Given the description of an element on the screen output the (x, y) to click on. 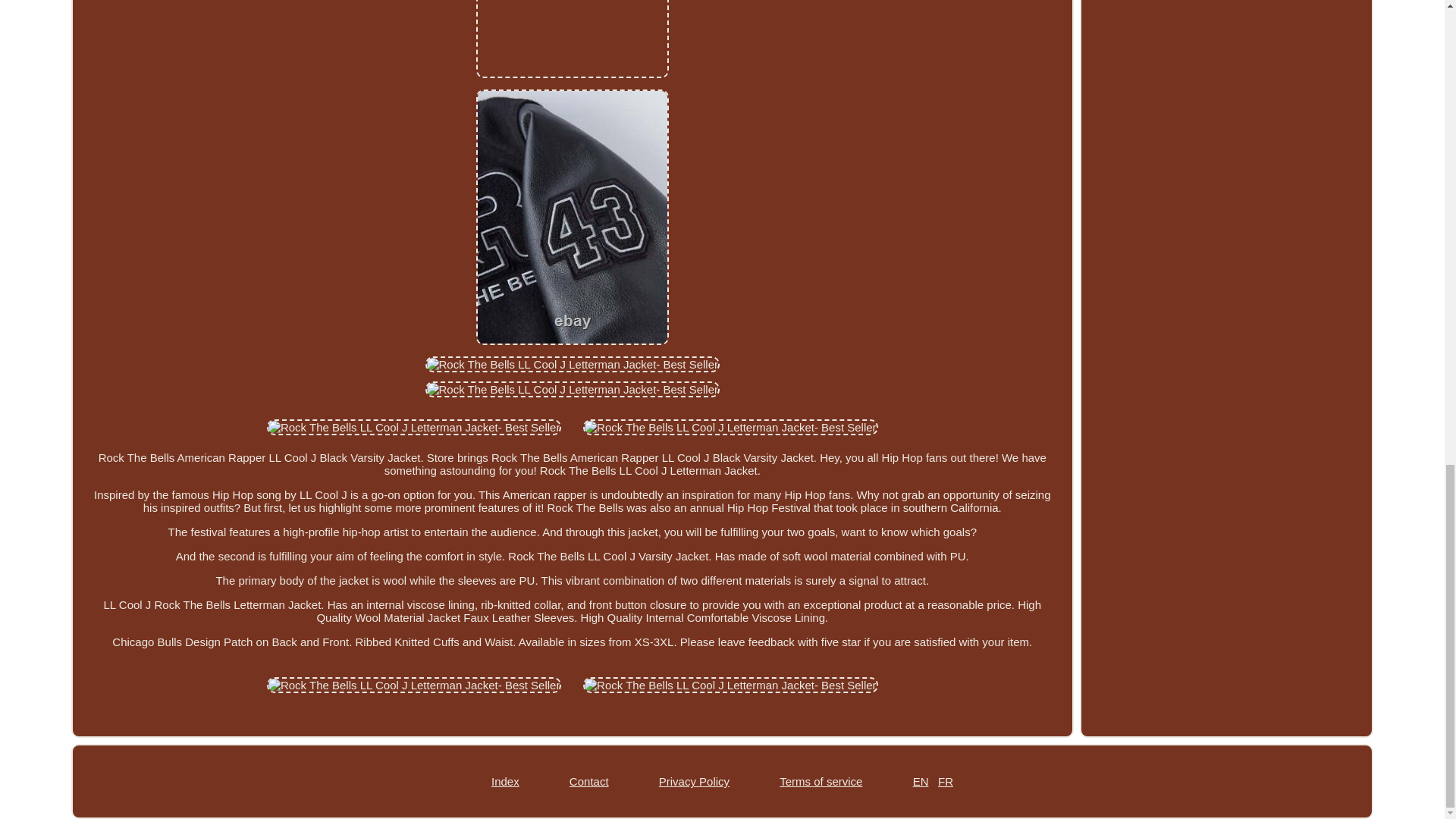
Rock The Bells LL Cool J Letterman Jacket- Best Seller (572, 364)
Rock The Bells LL Cool J Letterman Jacket- Best Seller (572, 38)
Rock The Bells LL Cool J Letterman Jacket- Best Seller (414, 684)
Rock The Bells LL Cool J Letterman Jacket- Best Seller (414, 426)
Rock The Bells LL Cool J Letterman Jacket- Best Seller (730, 426)
Rock The Bells LL Cool J Letterman Jacket- Best Seller (572, 389)
Rock The Bells LL Cool J Letterman Jacket- Best Seller (730, 684)
